Given the description of an element on the screen output the (x, y) to click on. 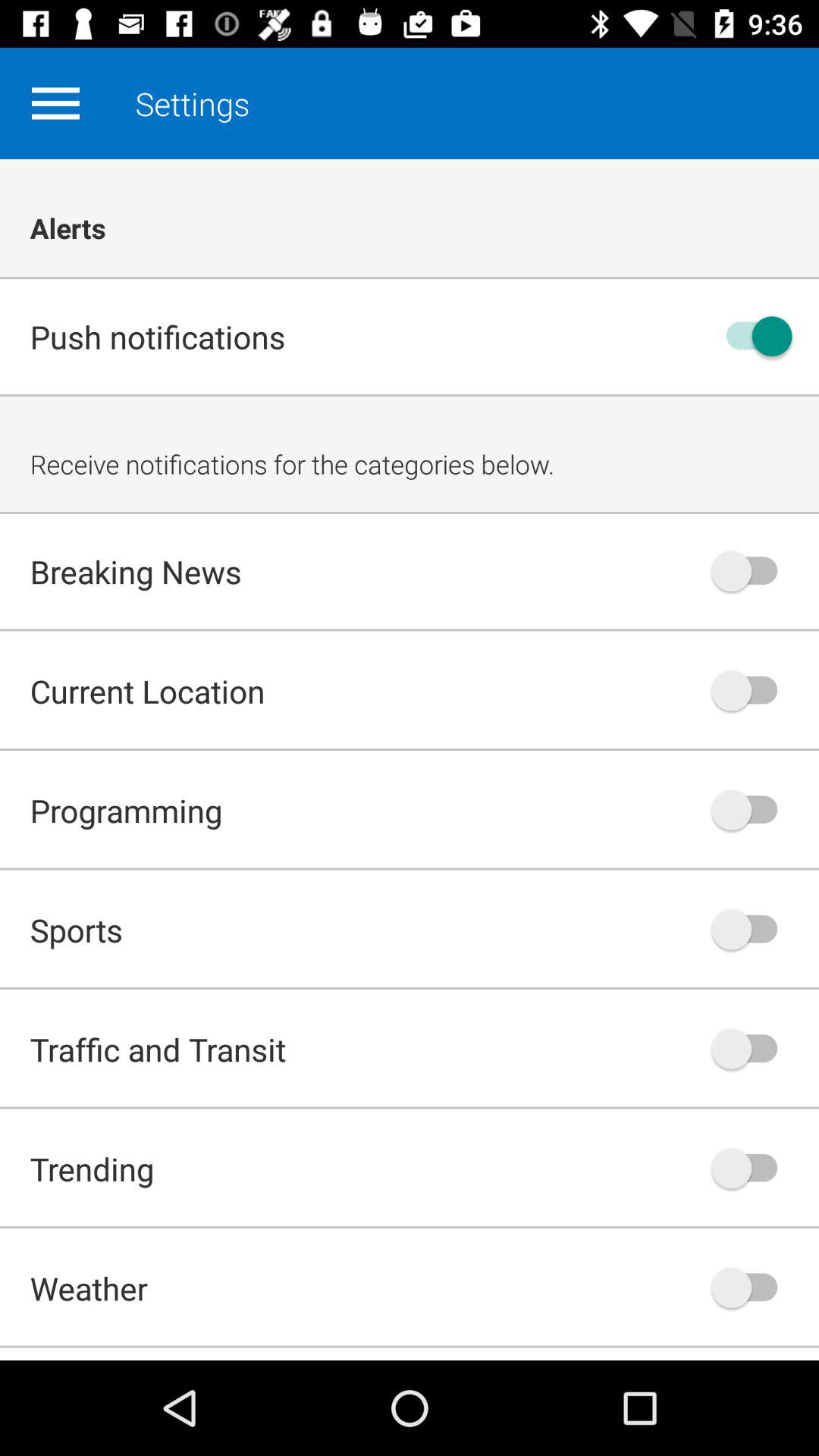
settings menu option (55, 103)
